Given the description of an element on the screen output the (x, y) to click on. 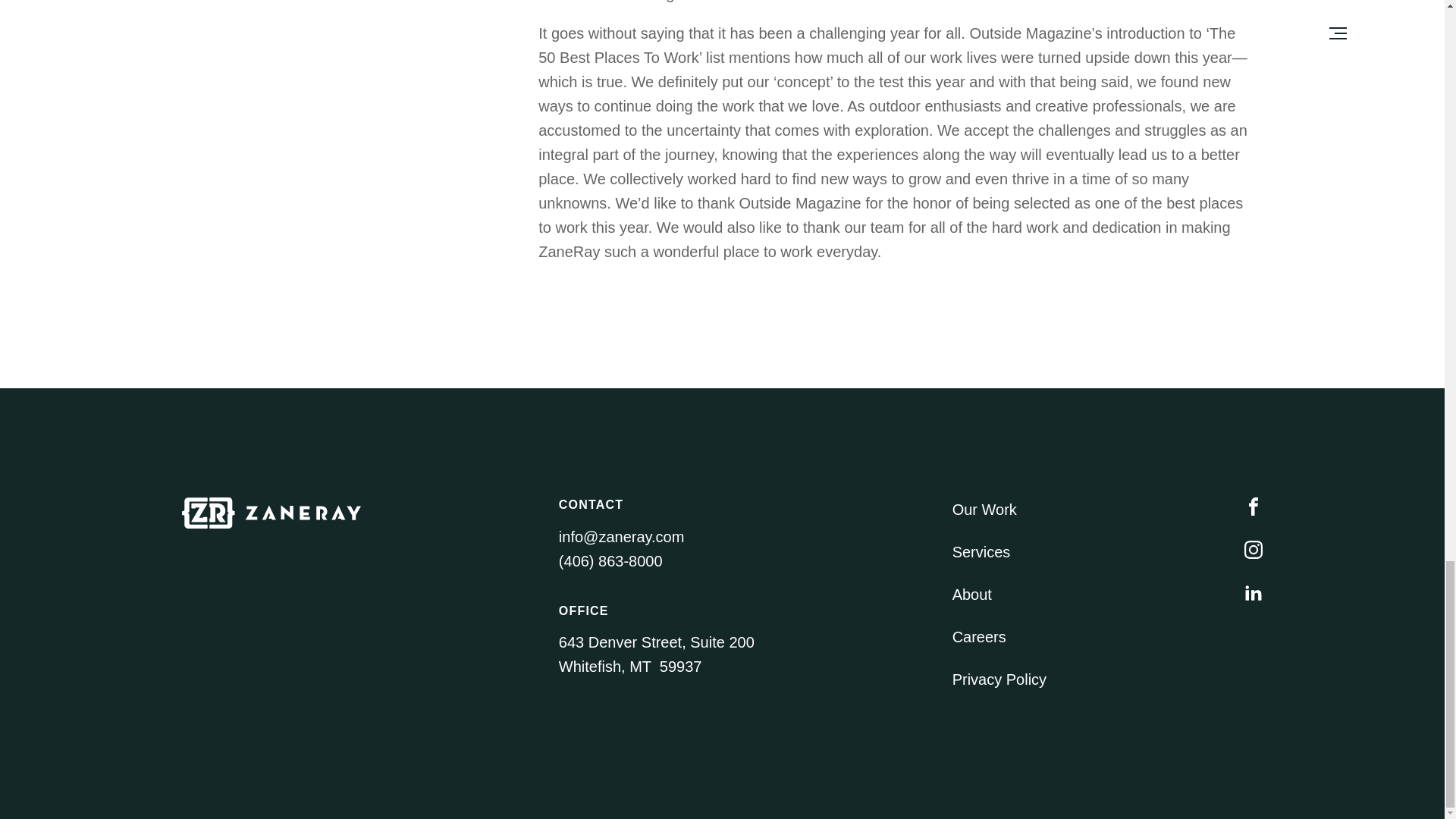
Careers (979, 636)
Privacy Policy (999, 679)
About (971, 594)
Services (981, 551)
Our Work (984, 509)
